Given the description of an element on the screen output the (x, y) to click on. 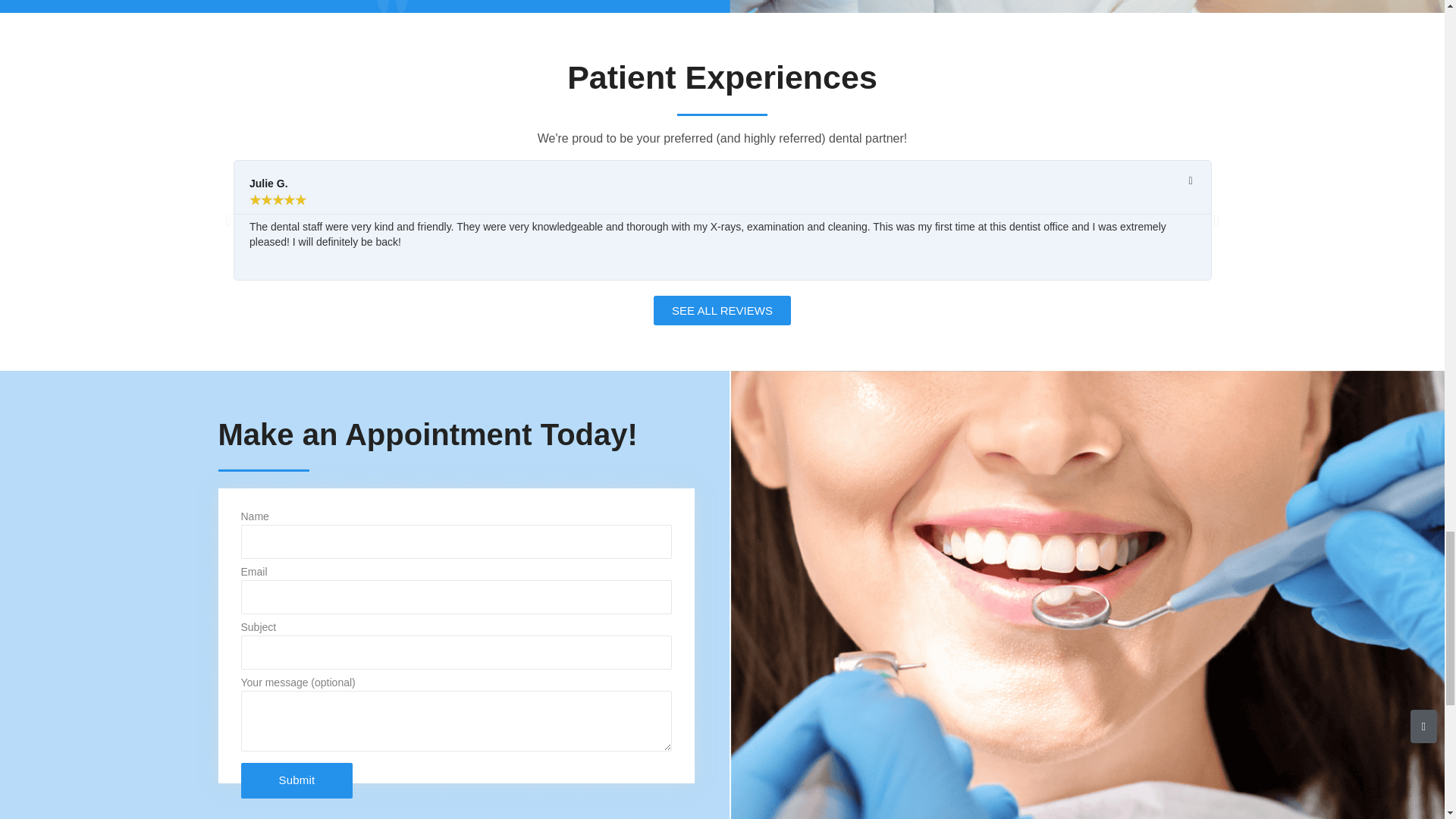
Submit (297, 780)
